Given the description of an element on the screen output the (x, y) to click on. 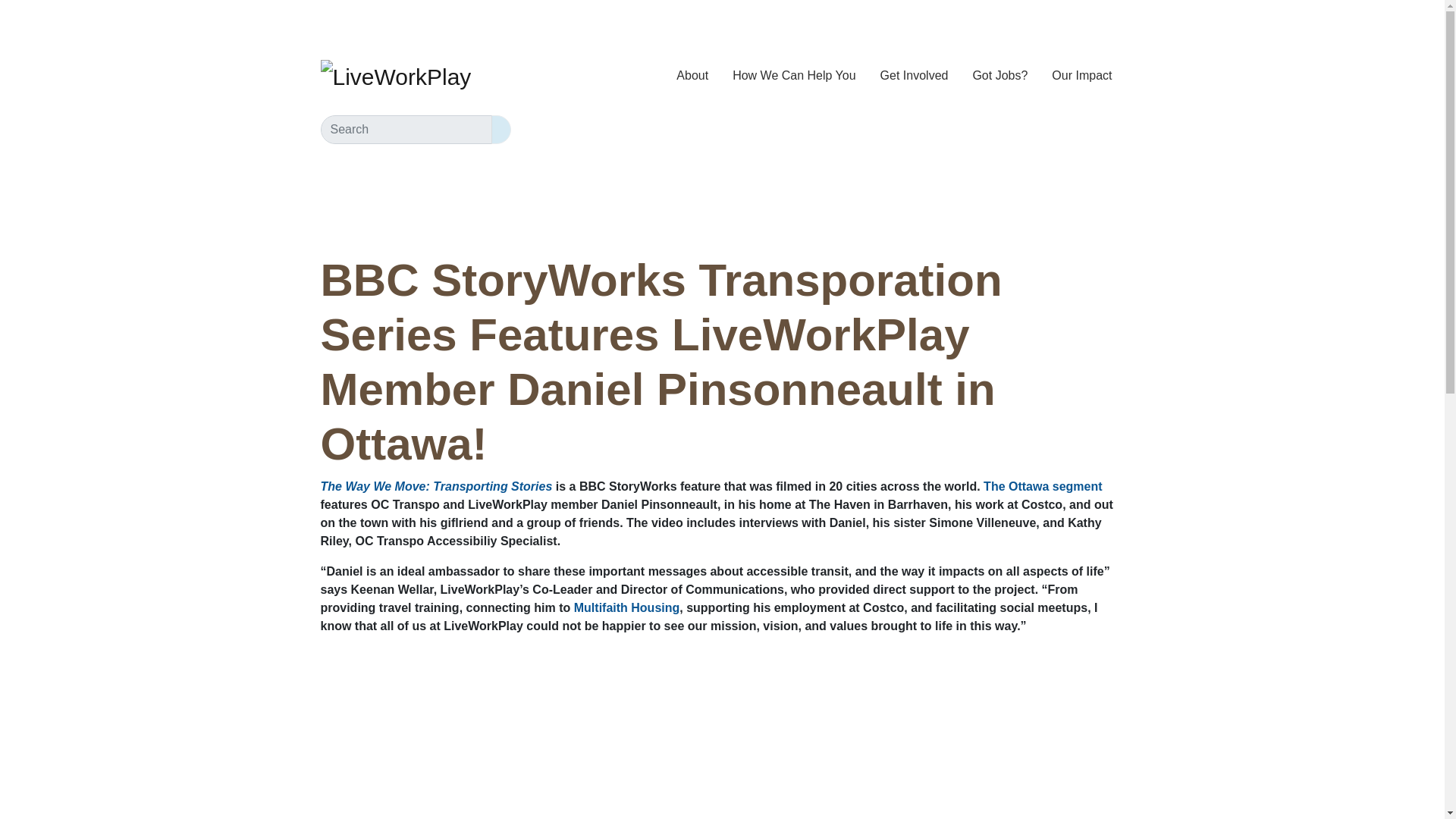
The Ottawa segment (1043, 486)
Multifaith Housing (626, 607)
About (691, 75)
Our Impact (1081, 75)
Got Jobs? (999, 75)
The Way We Move: Transporting Stories (435, 486)
Get Involved (913, 75)
Search (501, 129)
How We Can Help You (793, 75)
